Given the description of an element on the screen output the (x, y) to click on. 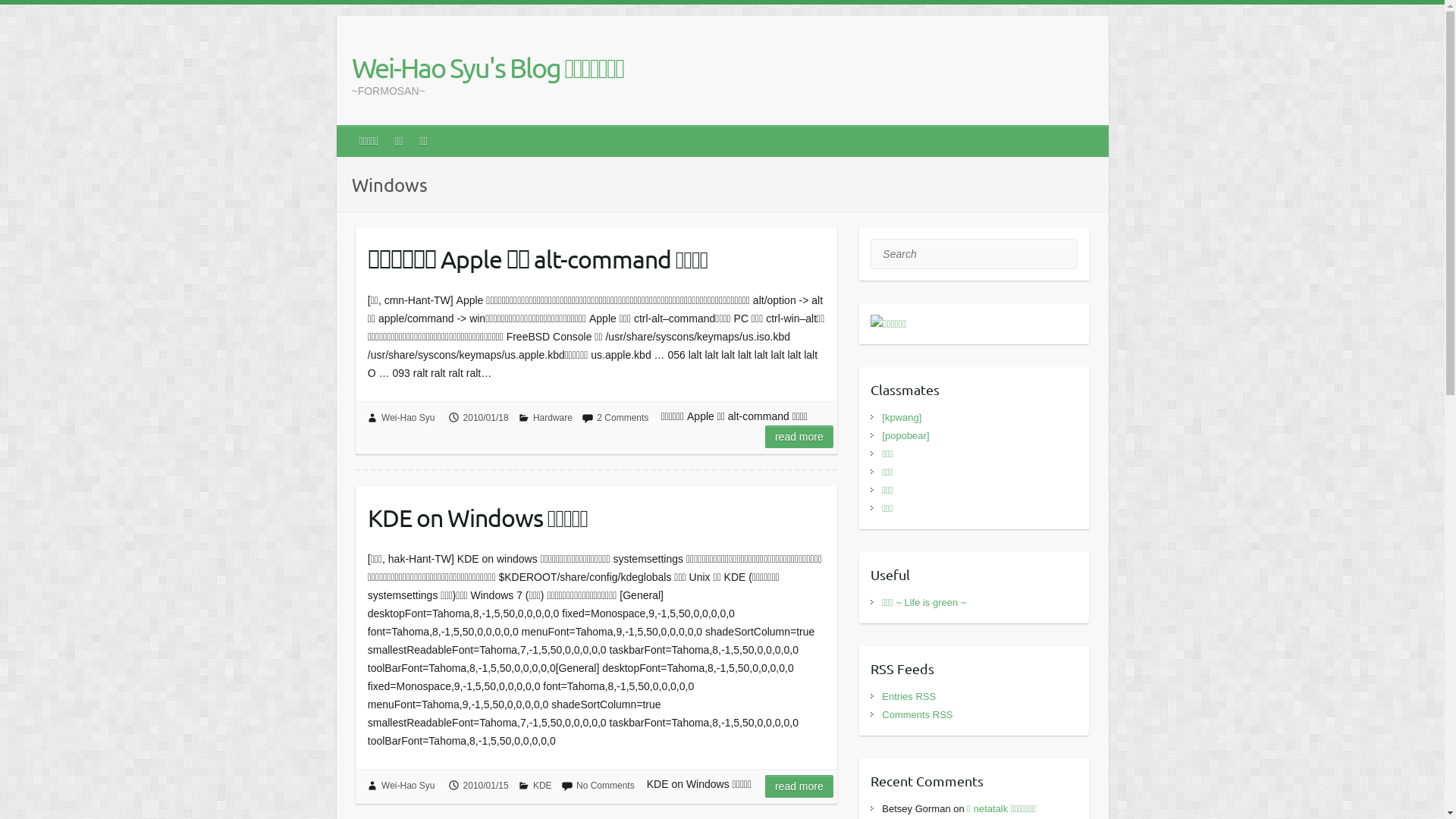
Hardware Element type: text (552, 417)
read more Element type: text (799, 786)
Comments RSS Element type: text (916, 714)
No Comments Element type: text (605, 785)
2010/01/18 Element type: text (485, 417)
Entries RSS Element type: text (908, 696)
[popobear] Element type: text (904, 435)
[kpwang] Element type: text (901, 417)
read more Element type: text (799, 436)
2010/01/15 Element type: text (485, 785)
Wei-Hao Syu Element type: text (407, 417)
2 Comments Element type: text (622, 417)
Wei-Hao Syu Element type: text (407, 785)
KDE Element type: text (542, 785)
